Given the description of an element on the screen output the (x, y) to click on. 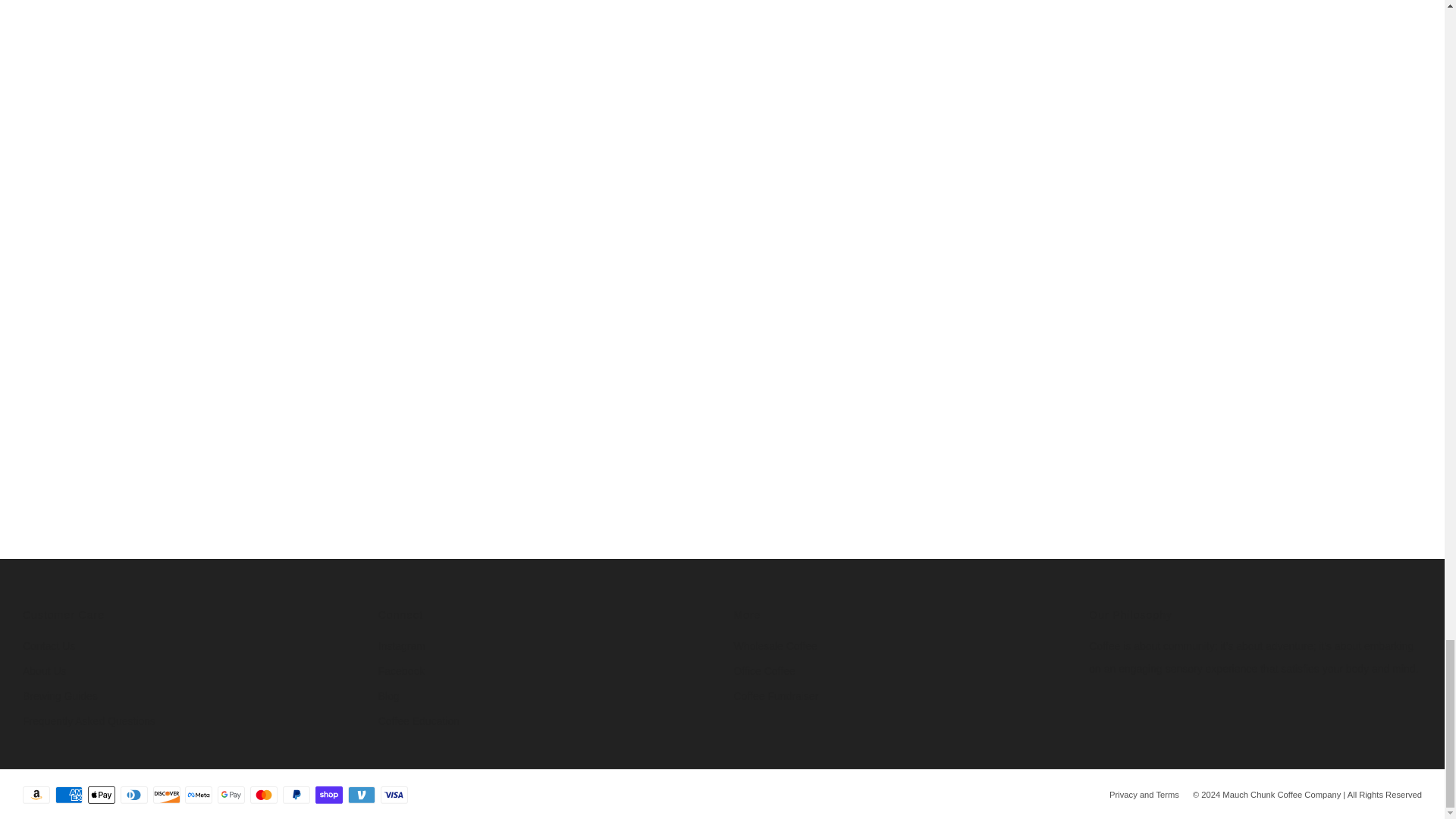
PayPal (296, 794)
Mastercard (264, 794)
American Express (68, 794)
Amazon (36, 794)
Apple Pay (101, 794)
Visa (393, 794)
Diners Club (134, 794)
Meta Pay (198, 794)
Google Pay (230, 794)
Venmo (361, 794)
Shop Pay (328, 794)
Discover (166, 794)
